Given the description of an element on the screen output the (x, y) to click on. 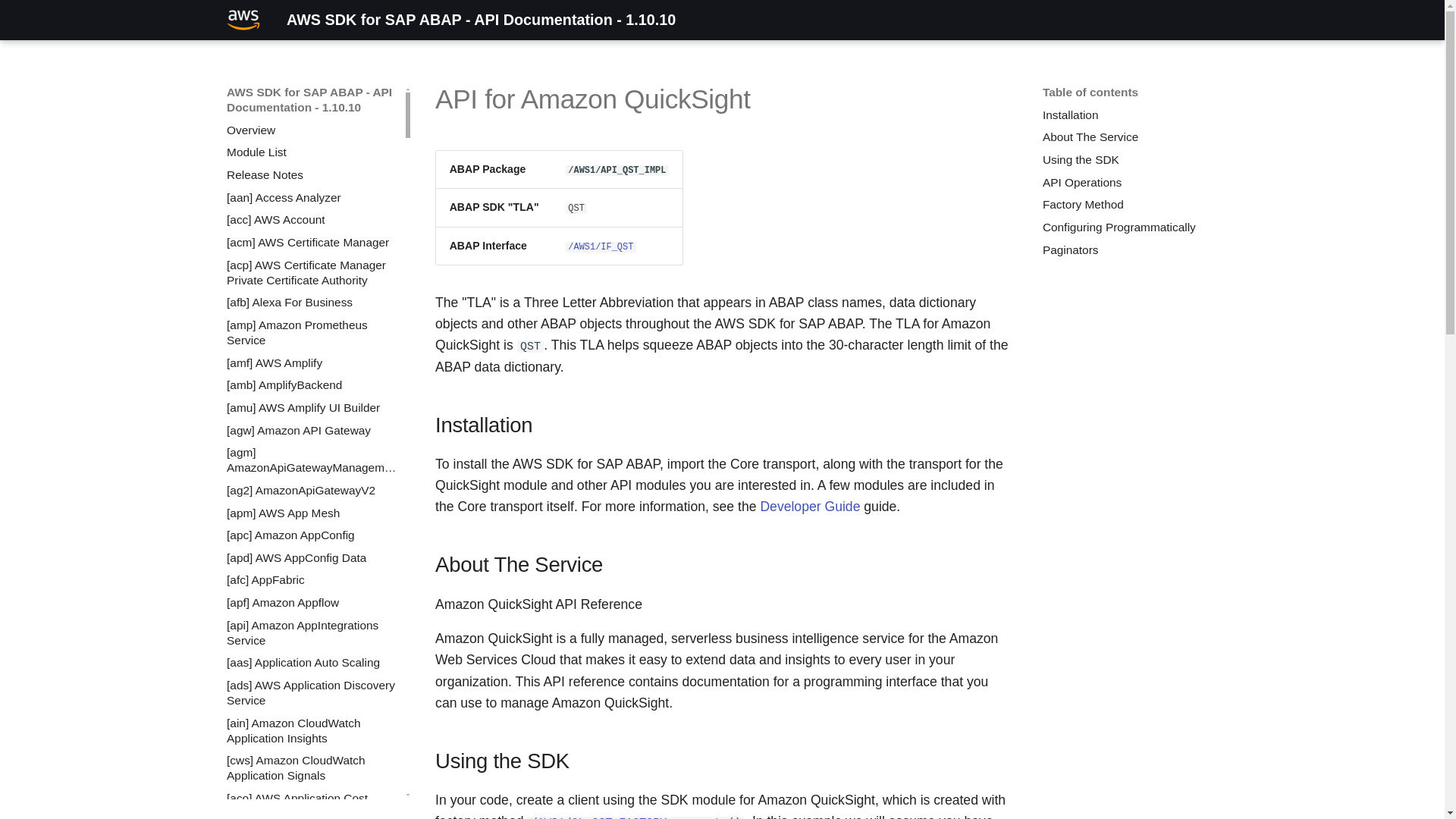
Module List (312, 151)
Overview (312, 130)
AWS SDK for SAP ABAP - API Documentation - 1.10.10 (242, 19)
Release Notes (312, 174)
